Given the description of an element on the screen output the (x, y) to click on. 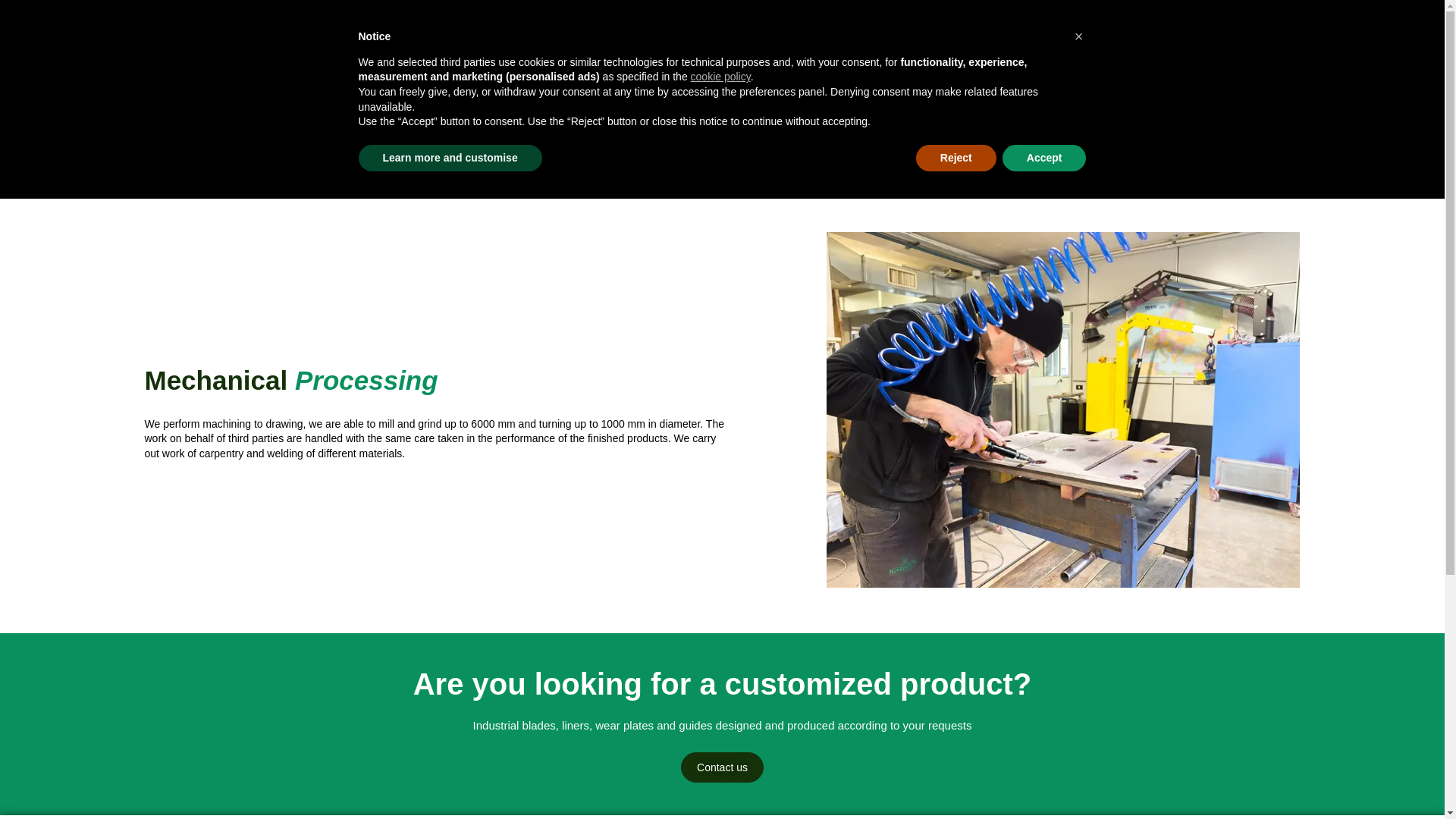
Company (959, 57)
Home (898, 57)
Products (1031, 57)
Services (1101, 57)
02 3510741 (1261, 15)
Contact (1231, 57)
